Given the description of an element on the screen output the (x, y) to click on. 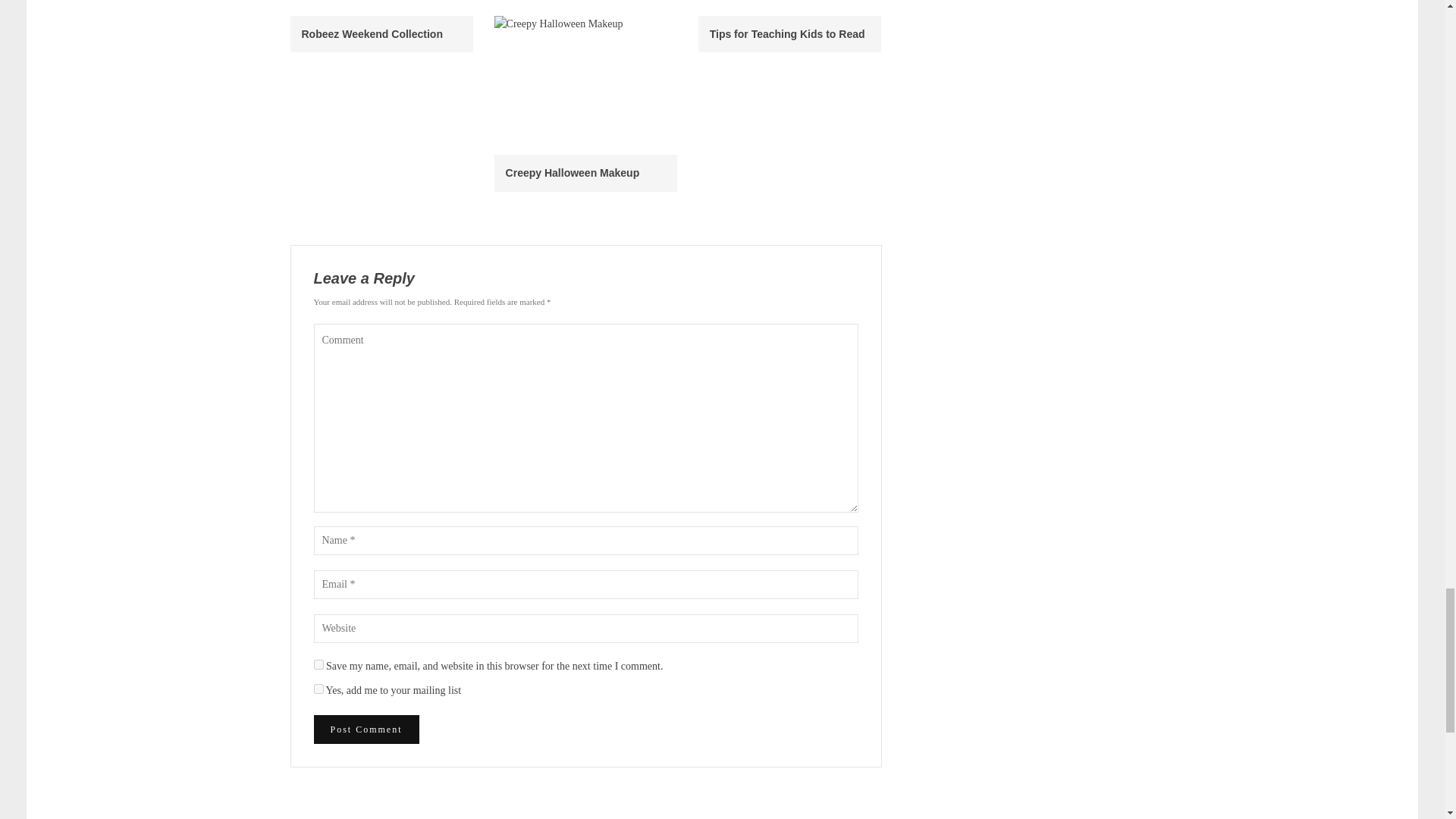
1 (318, 688)
Post Comment (366, 728)
yes (318, 664)
